Given the description of an element on the screen output the (x, y) to click on. 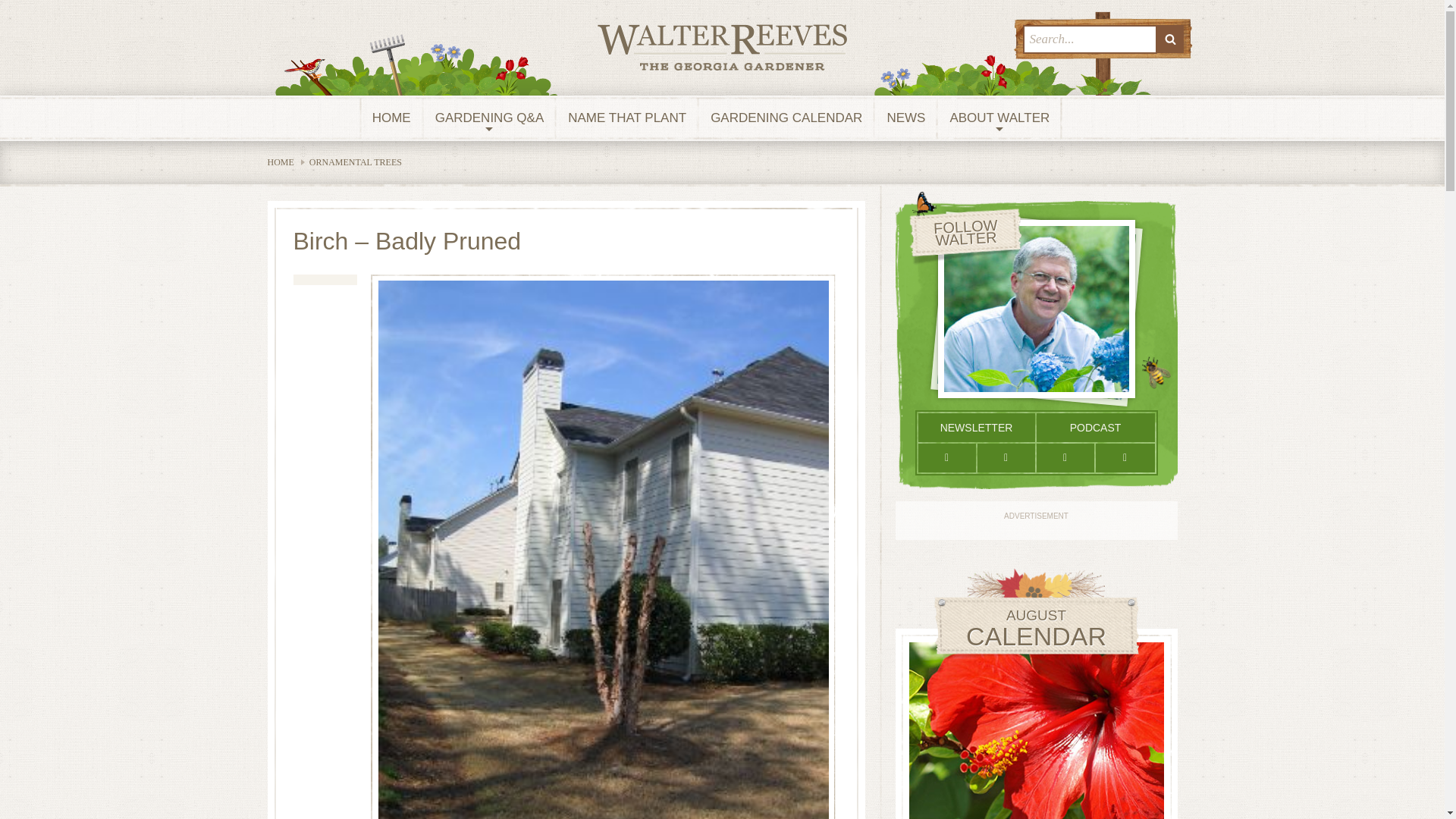
ABOUT WALTER (999, 117)
NEWS (906, 117)
NAME THAT PLANT (627, 117)
HOME (391, 117)
GARDENING CALENDAR (786, 117)
Search for: (1089, 39)
SEARCH (1170, 39)
